Given the description of an element on the screen output the (x, y) to click on. 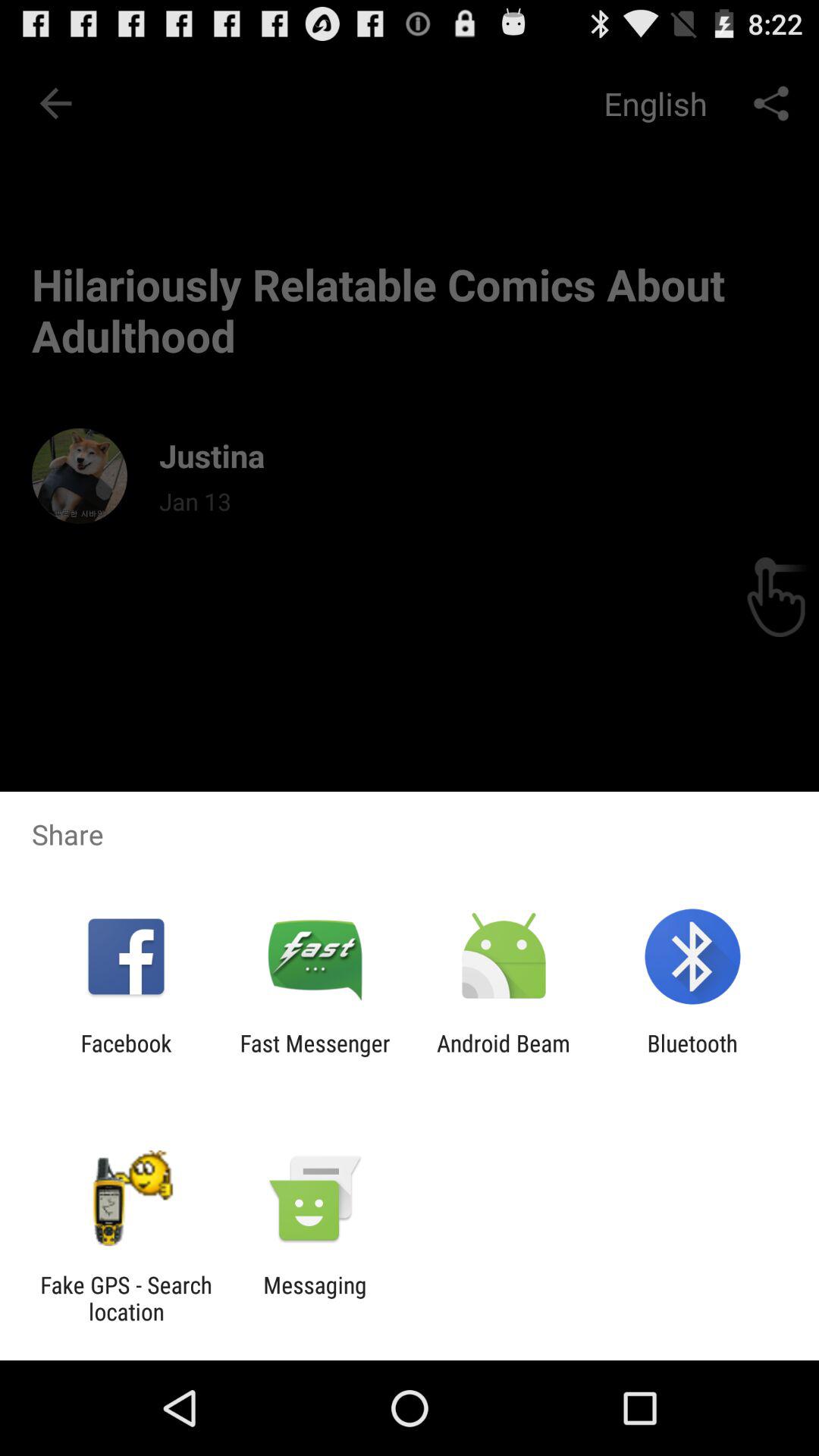
flip until the fake gps search (125, 1298)
